Given the description of an element on the screen output the (x, y) to click on. 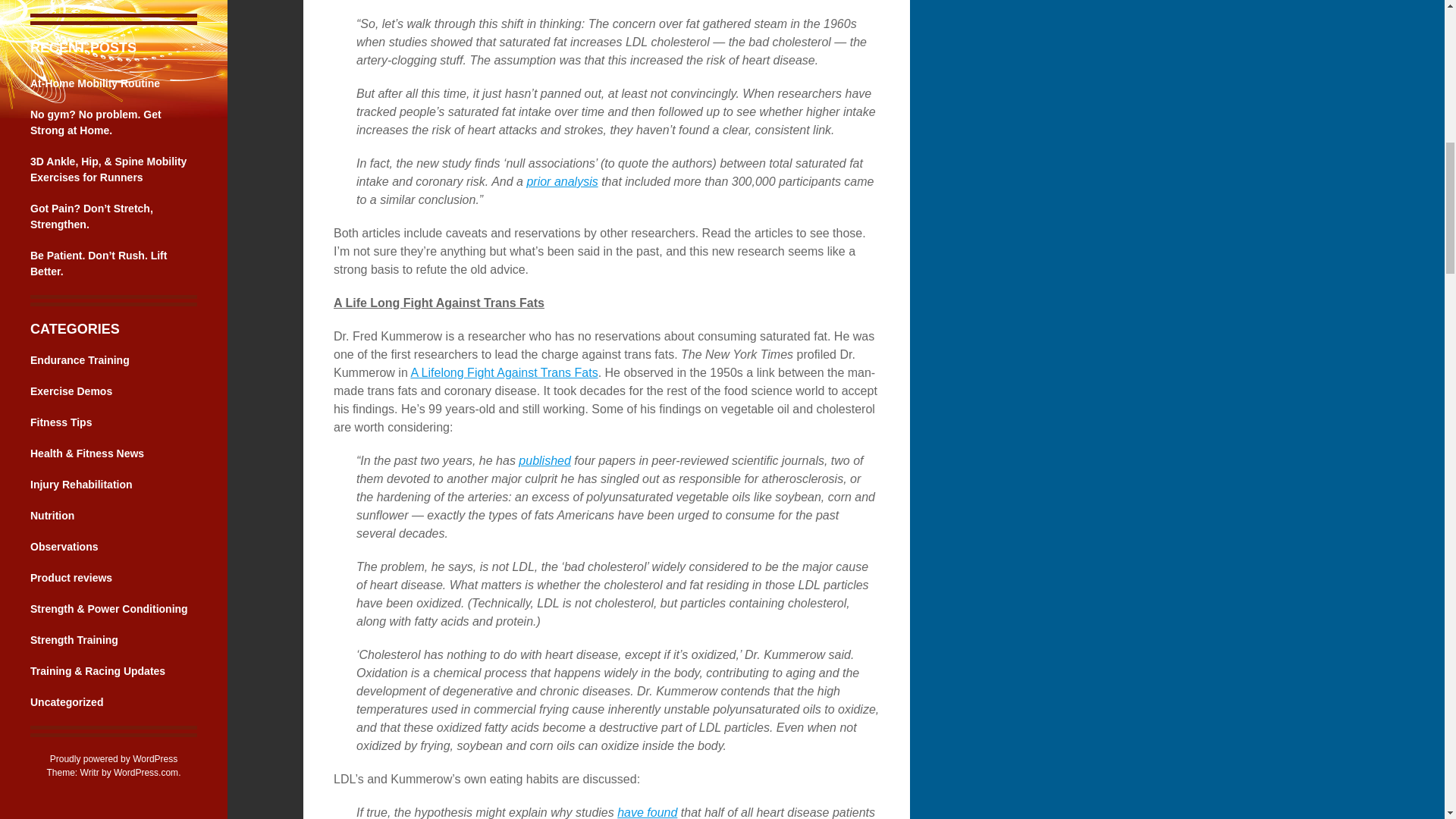
Nutrition (52, 515)
WordPress.com (145, 772)
Proudly powered by WordPress (113, 758)
Fitness Tips (60, 422)
No gym? No problem. Get Strong at Home. (95, 122)
Uncategorized (66, 702)
Injury Rehabilitation (81, 484)
A Lifelong Fight Against Trans Fats (503, 372)
Endurance Training (79, 359)
prior analysis (560, 181)
At-Home Mobility Routine (95, 82)
published (544, 460)
Product reviews (71, 577)
Exercise Demos (71, 390)
Observations (63, 546)
